Given the description of an element on the screen output the (x, y) to click on. 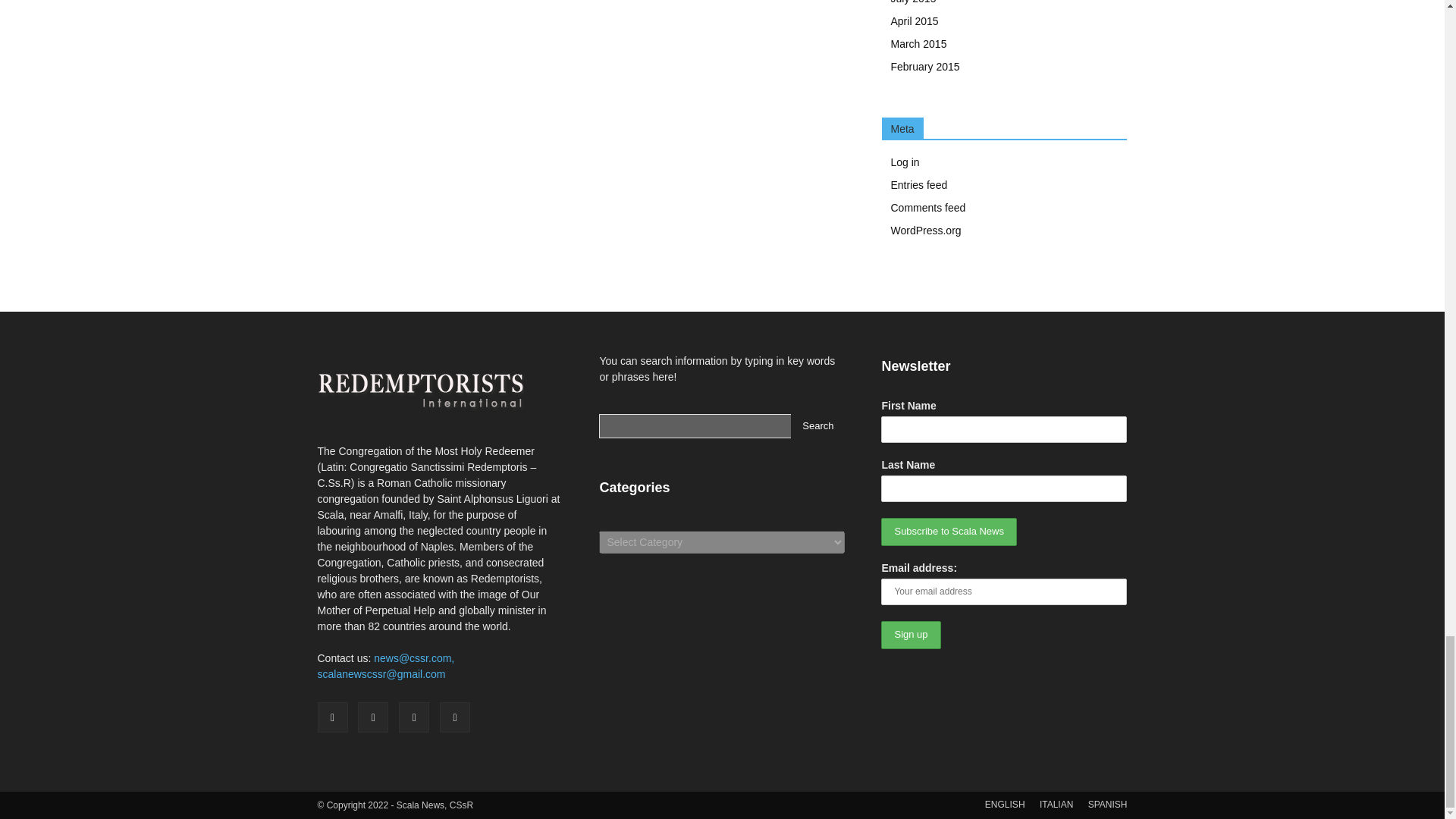
Subscribe to Scala News (948, 531)
Sign up (910, 634)
Search (817, 426)
